Given the description of an element on the screen output the (x, y) to click on. 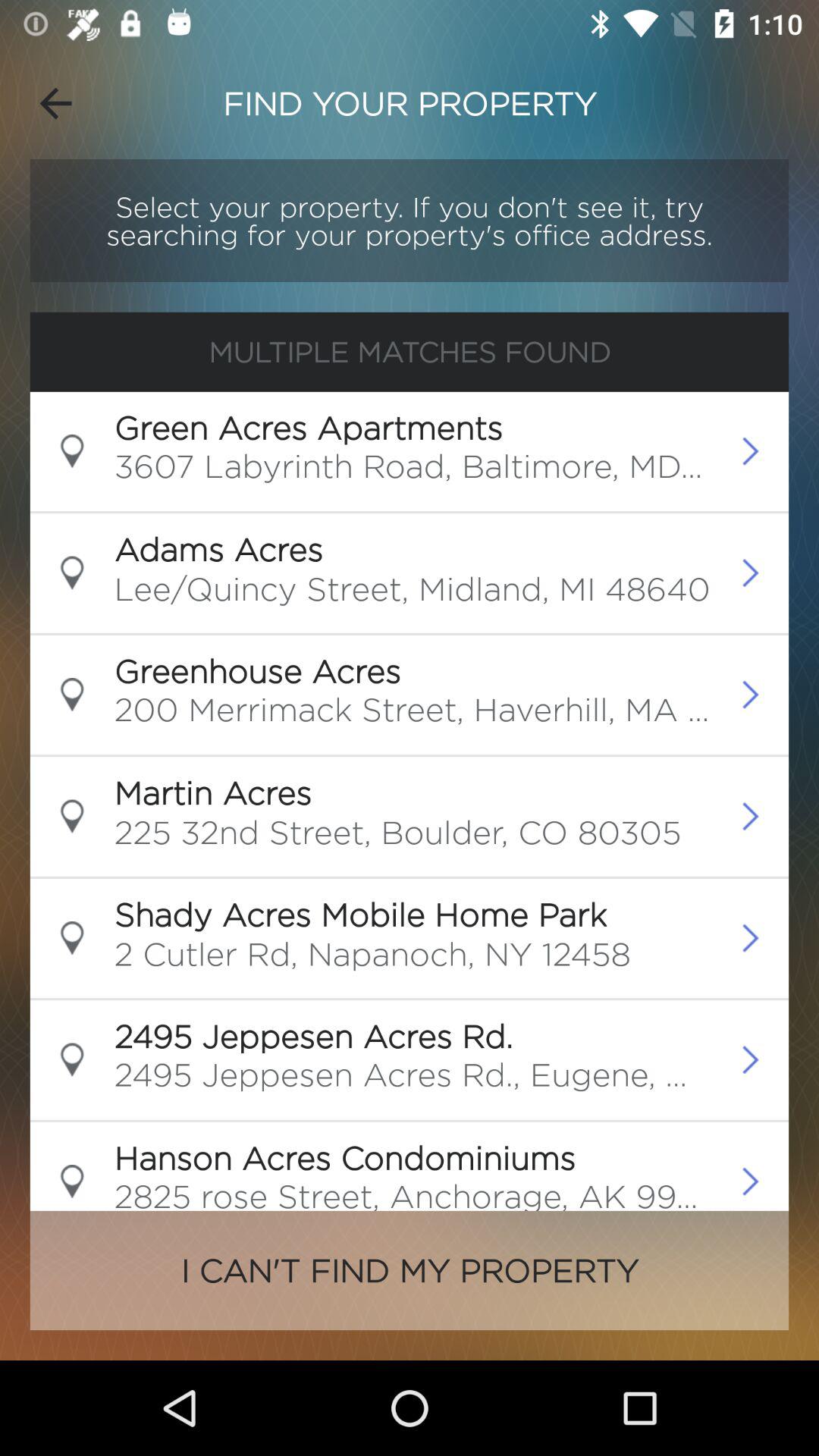
tap the shady acres mobile icon (360, 913)
